Given the description of an element on the screen output the (x, y) to click on. 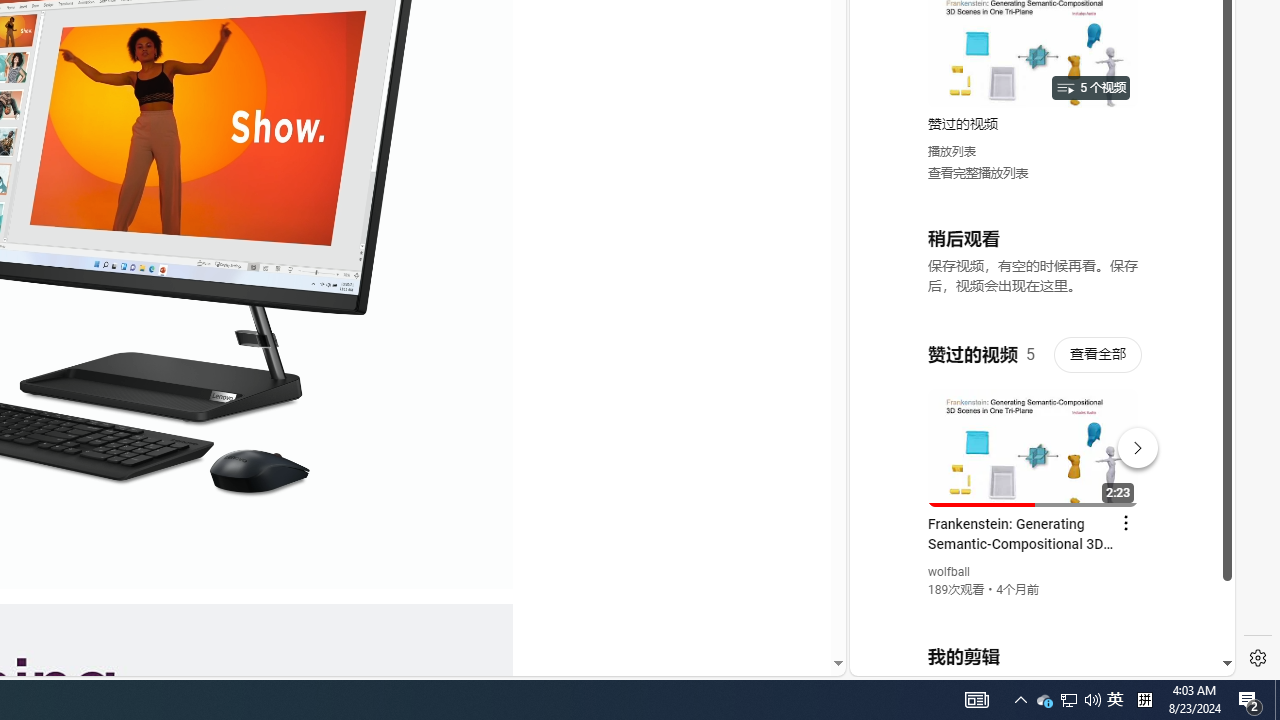
US[ju] (917, 660)
Class: dict_pnIcon rms_img (1028, 660)
you (1034, 609)
